Given the description of an element on the screen output the (x, y) to click on. 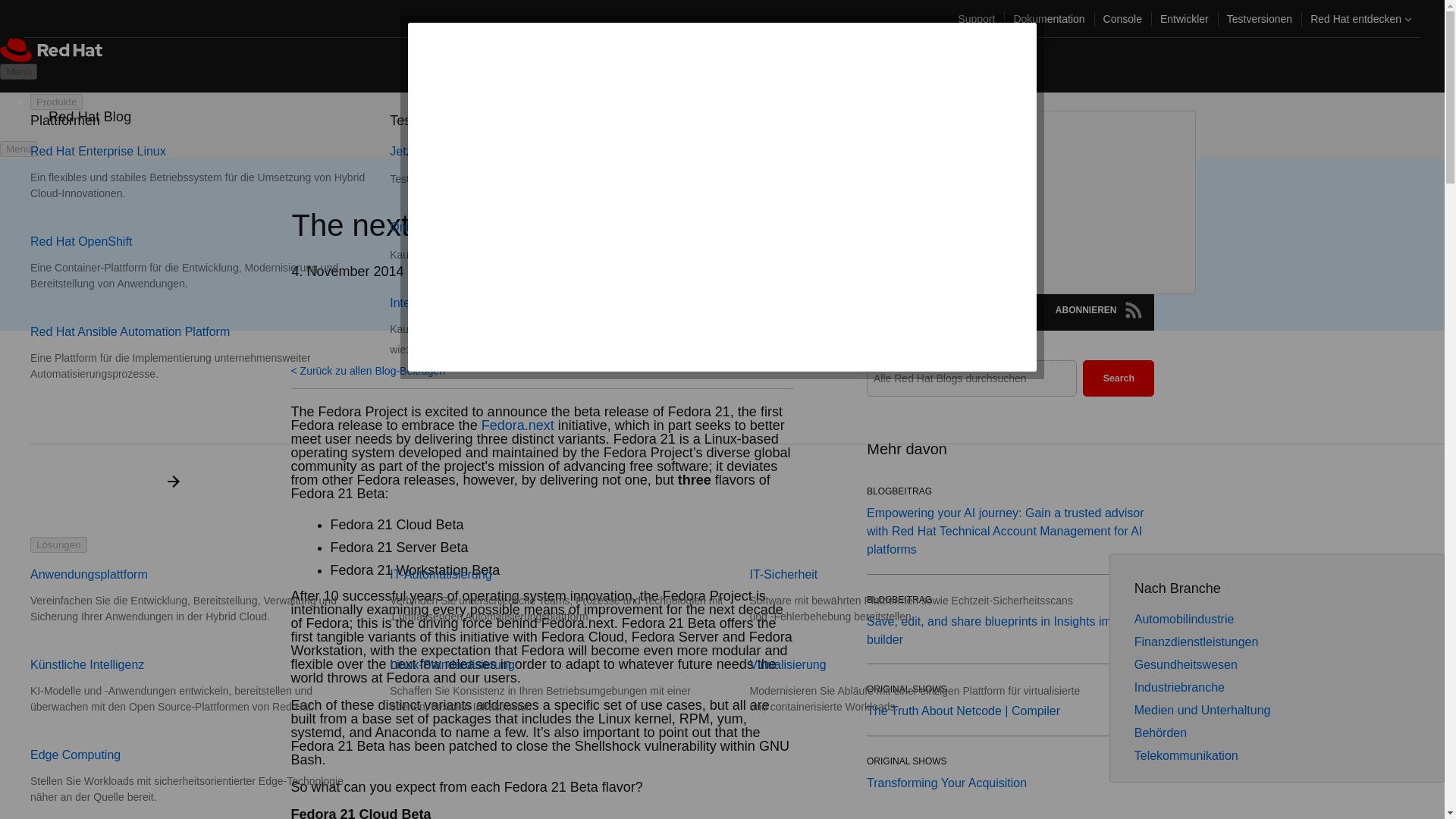
Red Hat entdecken (1361, 18)
Testversionen (1259, 18)
See more by The Fedora Project Team (506, 271)
Entwickler (1184, 18)
Support (976, 18)
Jetzt testenTesten Sie unsere Produkte kostenlos. (511, 165)
Abonnieren (1132, 310)
Console (1122, 18)
Dokumentation (1048, 18)
